Given the description of an element on the screen output the (x, y) to click on. 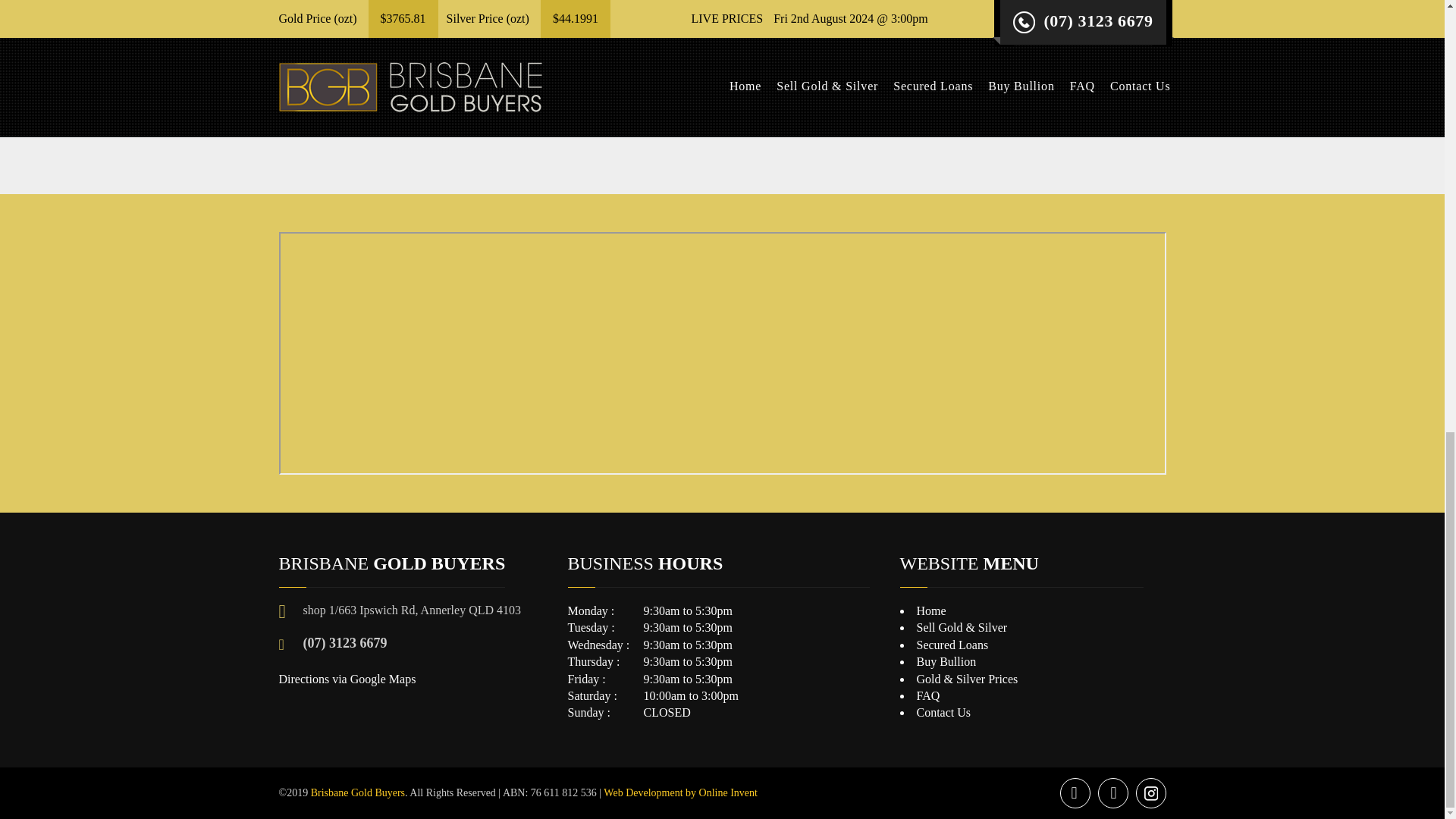
Directions via Google Maps (347, 678)
PRIVACY POLICY (544, 95)
SMSF GOLD BULLION (544, 35)
Buy Bullion (945, 661)
Secured Loans (951, 644)
FAQ (927, 695)
Brisbane Gold Buyers (357, 792)
Contact Us (943, 712)
Web Development by Online Invent (680, 792)
LEGAL ORDER TERMS (899, 95)
Home (929, 610)
